Given the description of an element on the screen output the (x, y) to click on. 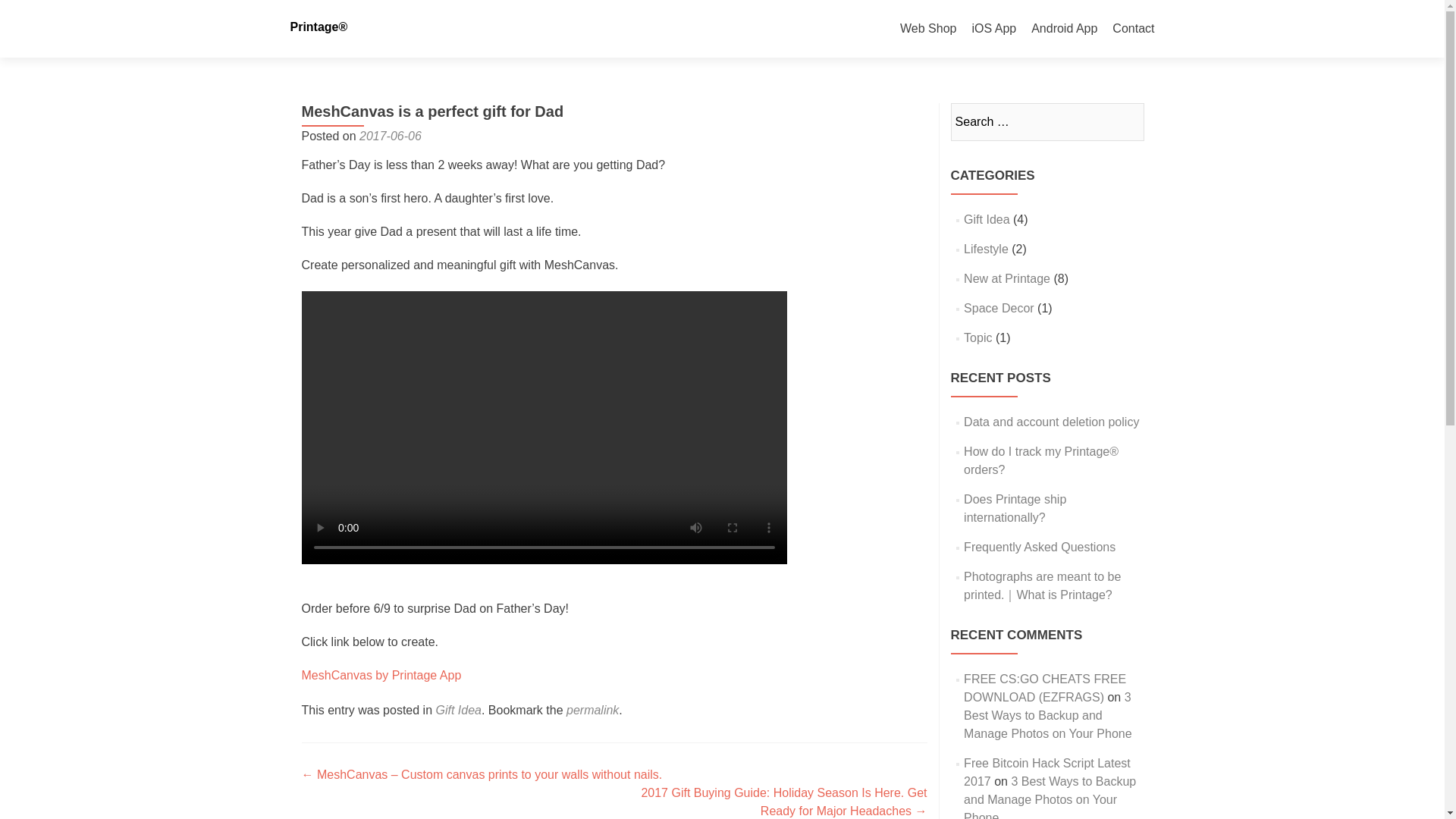
2017-06-06 (390, 135)
Gift Idea (986, 219)
Frequently Asked Questions (1039, 546)
MeshCanvas by Printage App (381, 675)
Topic (977, 337)
Search (1125, 120)
3 Best Ways to Backup and Manage Photos on Your Phone (1047, 715)
iOS App (993, 28)
Data and account deletion policy (1050, 421)
Skip to content (939, 9)
Gift Idea (457, 709)
Space Decor (998, 308)
Android App (1063, 28)
Free Bitcoin Hack Script Latest 2017 (1047, 771)
Does Printage ship internationally? (1014, 508)
